Given the description of an element on the screen output the (x, y) to click on. 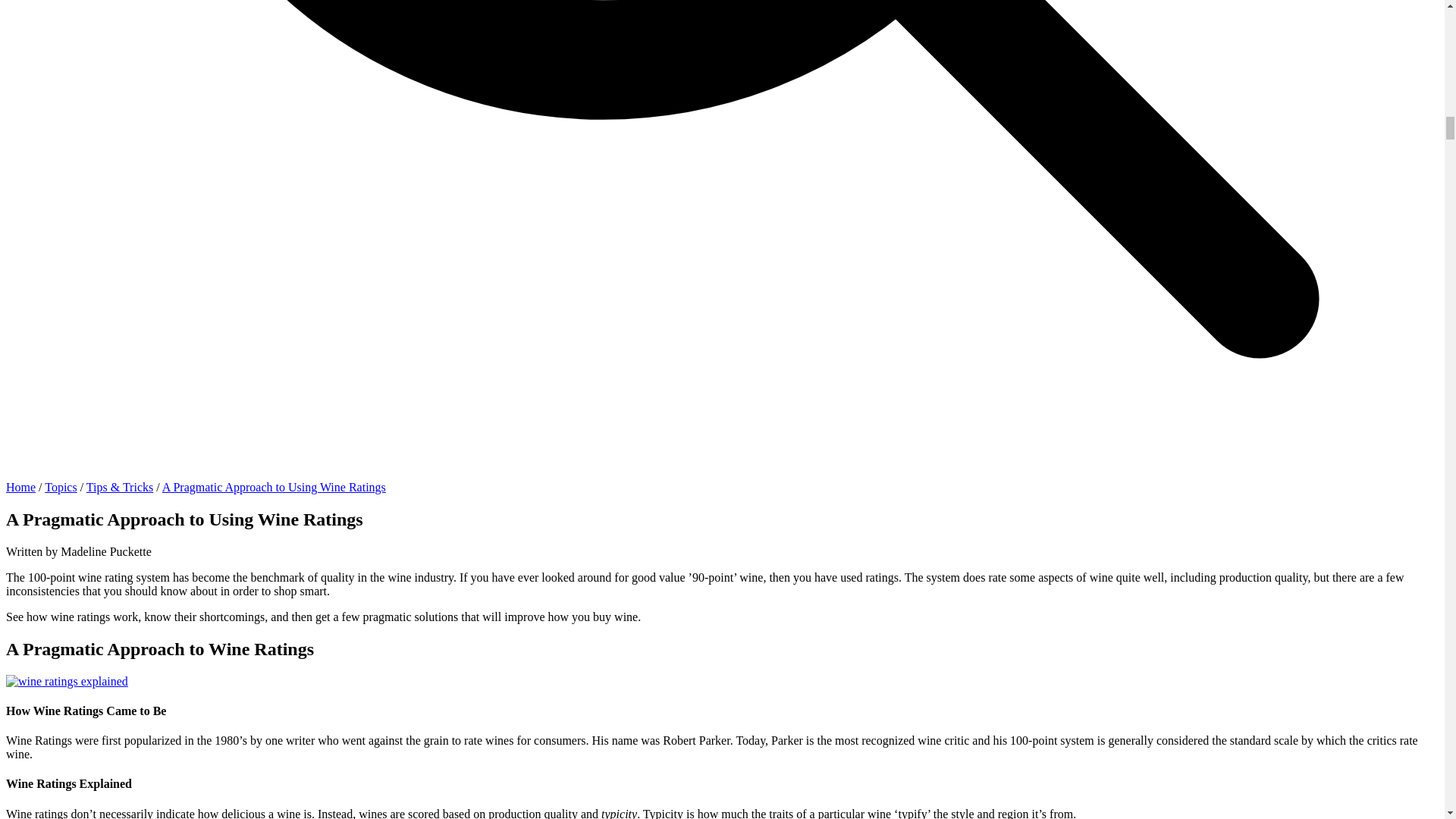
Home (19, 486)
Topics (61, 486)
A Pragmatic Approach to Using Wine Ratings (273, 486)
